Given the description of an element on the screen output the (x, y) to click on. 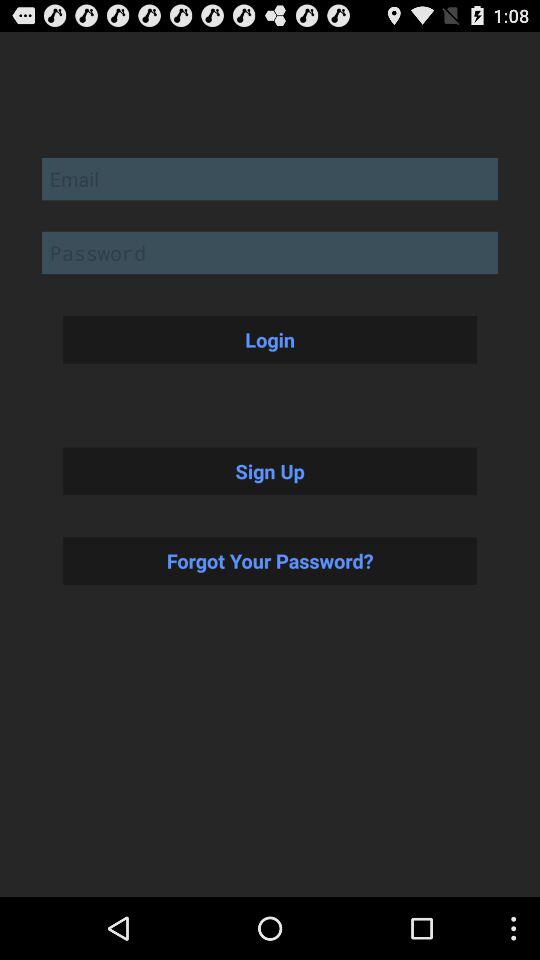
launch item above forgot your password? button (269, 471)
